Given the description of an element on the screen output the (x, y) to click on. 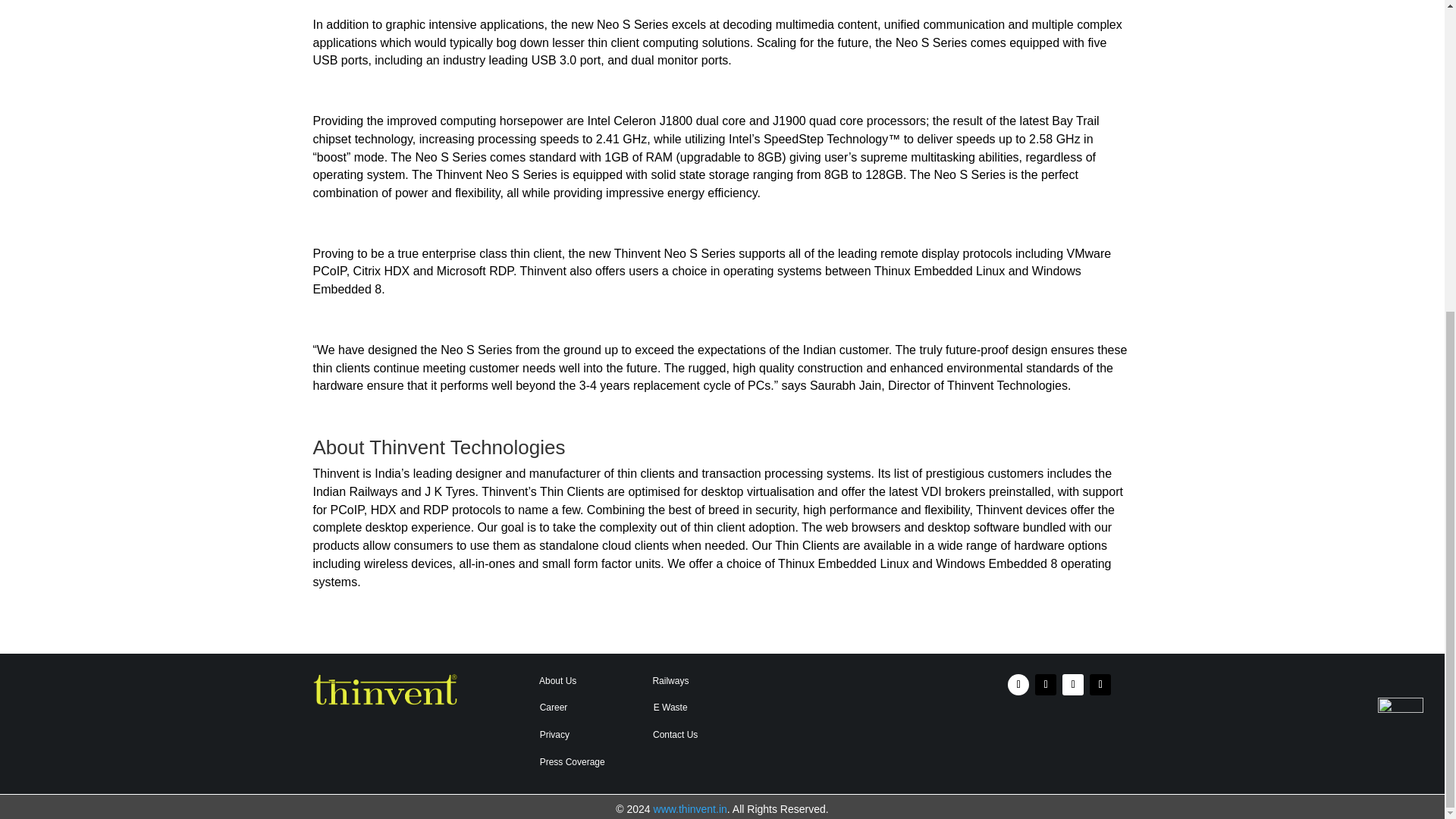
call-logo1 (1400, 224)
Follow on Instagram (1046, 684)
Follow on LinkedIn (1072, 684)
Follow on Facebook (1018, 684)
Follow on X (1099, 684)
